Given the description of an element on the screen output the (x, y) to click on. 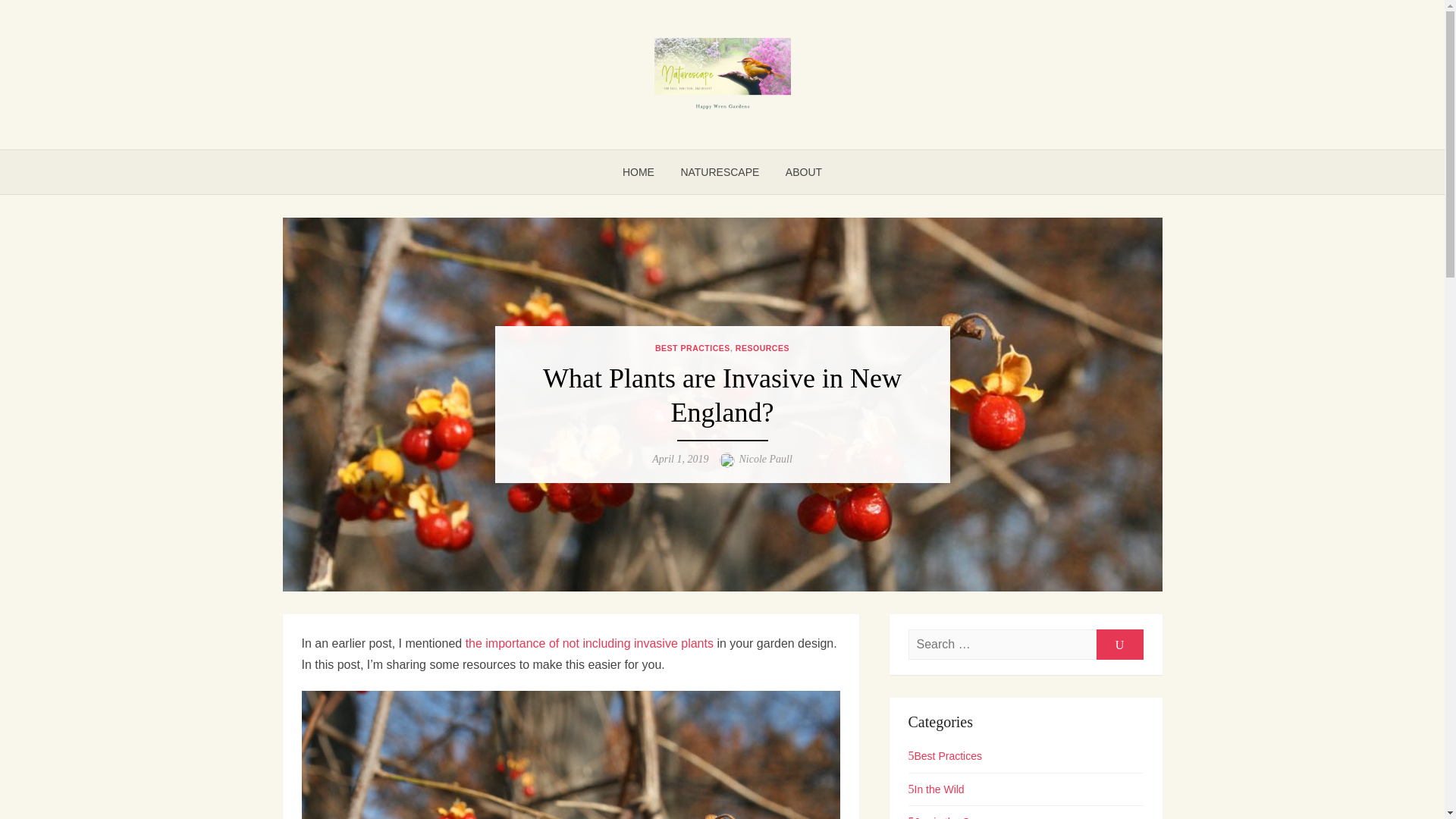
RESOURCES (762, 347)
SEARCH (1119, 644)
ABOUT (803, 171)
In the Wild (935, 788)
HOME (638, 171)
the importance of not including invasive plants (589, 643)
NATURESCAPE (719, 171)
Nicole Paull (765, 459)
Joy in the Seasons (956, 817)
April 1, 2019 (679, 459)
Best Practices (944, 756)
BEST PRACTICES (692, 347)
